Given the description of an element on the screen output the (x, y) to click on. 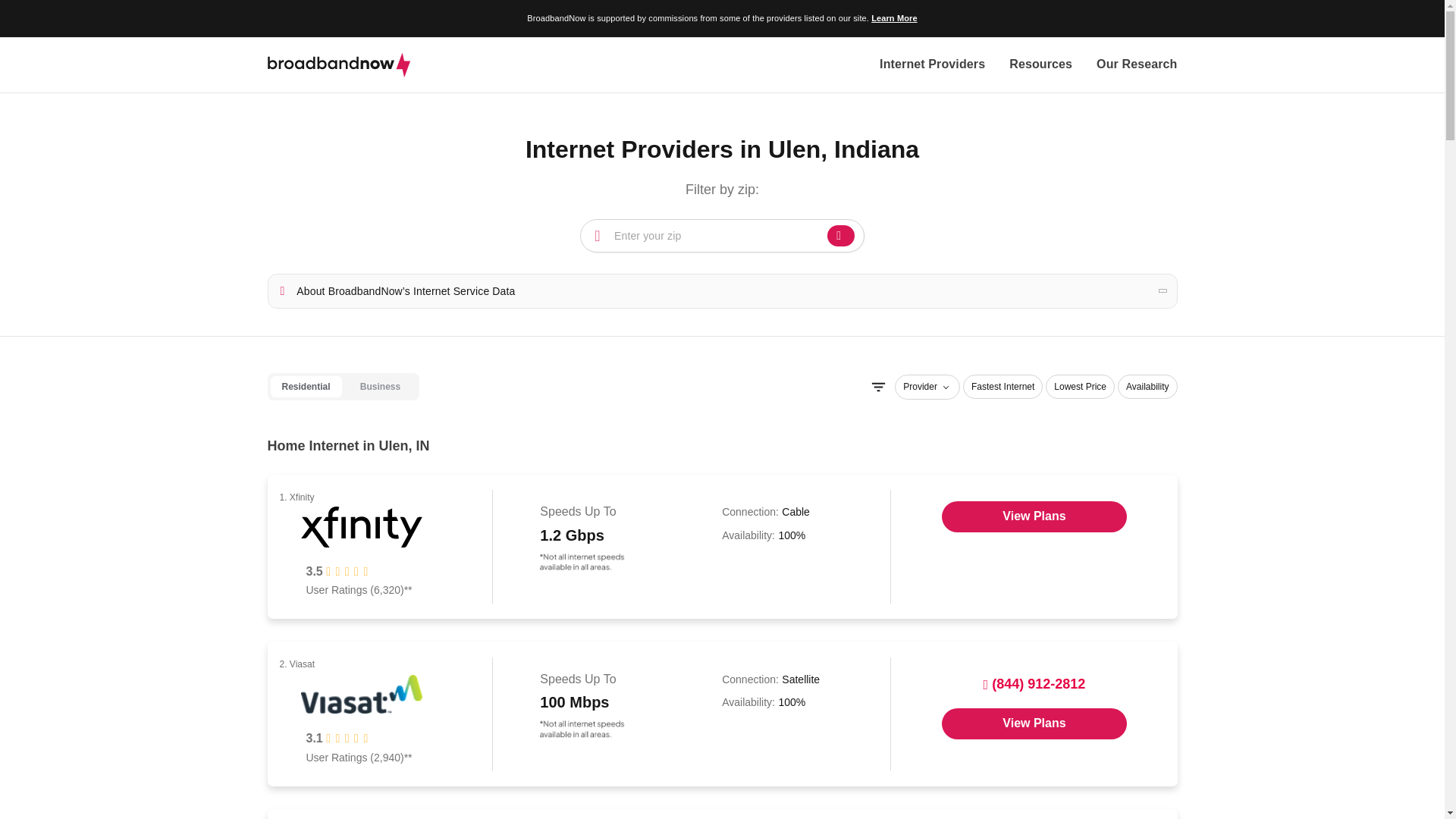
Resources (1040, 64)
Residential (305, 386)
Learn More (893, 17)
Our Research (1136, 64)
Opens in a new window (1034, 723)
Internet Providers (932, 64)
Business (379, 386)
Opens in a new window (1034, 516)
